Given the description of an element on the screen output the (x, y) to click on. 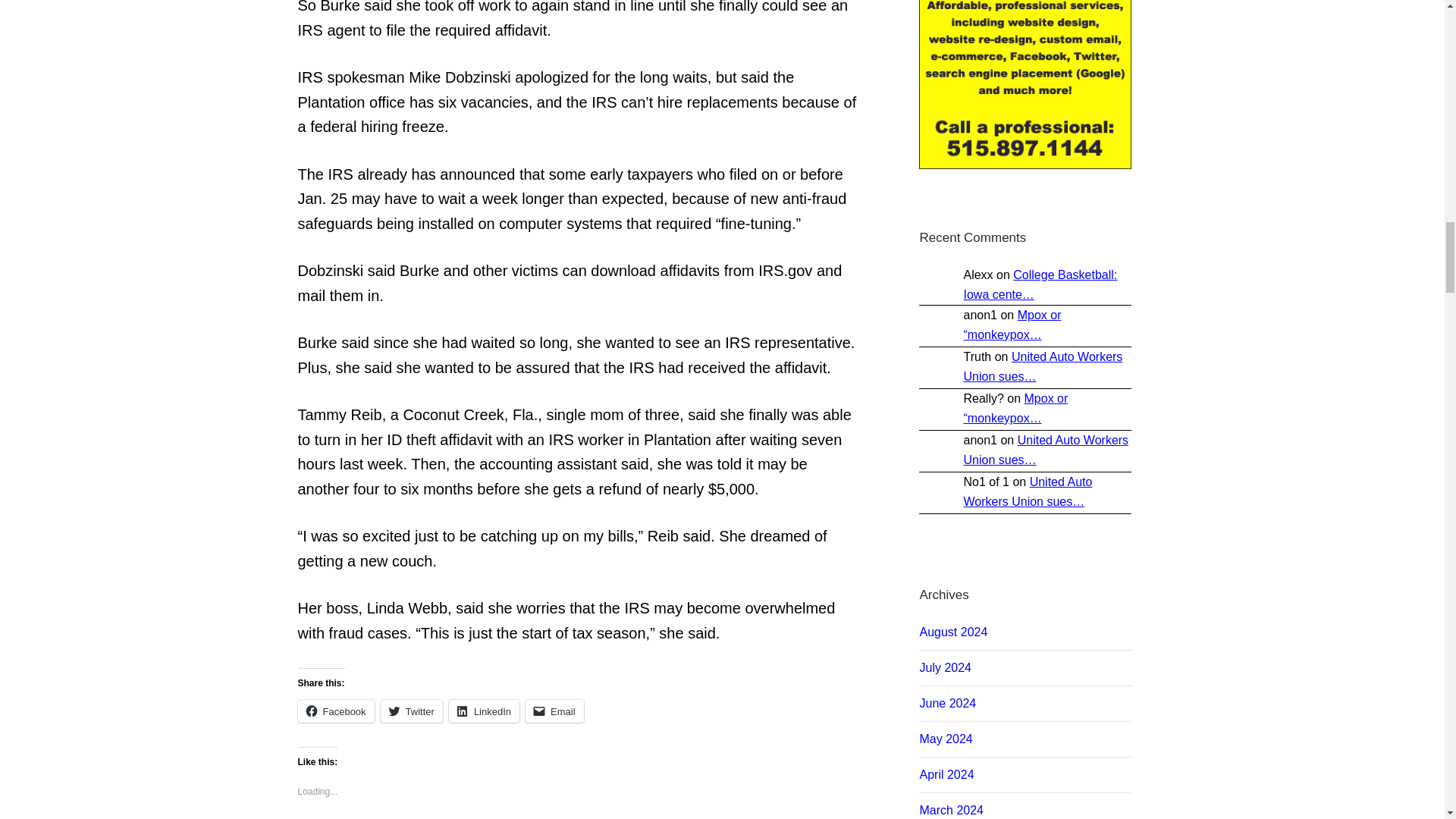
Twitter (411, 711)
Email (554, 711)
LinkedIn (483, 711)
Facebook (335, 711)
Click to share on LinkedIn (483, 711)
Click to share on Twitter (411, 711)
Click to email a link to a friend (554, 711)
Click to share on Facebook (335, 711)
